Given the description of an element on the screen output the (x, y) to click on. 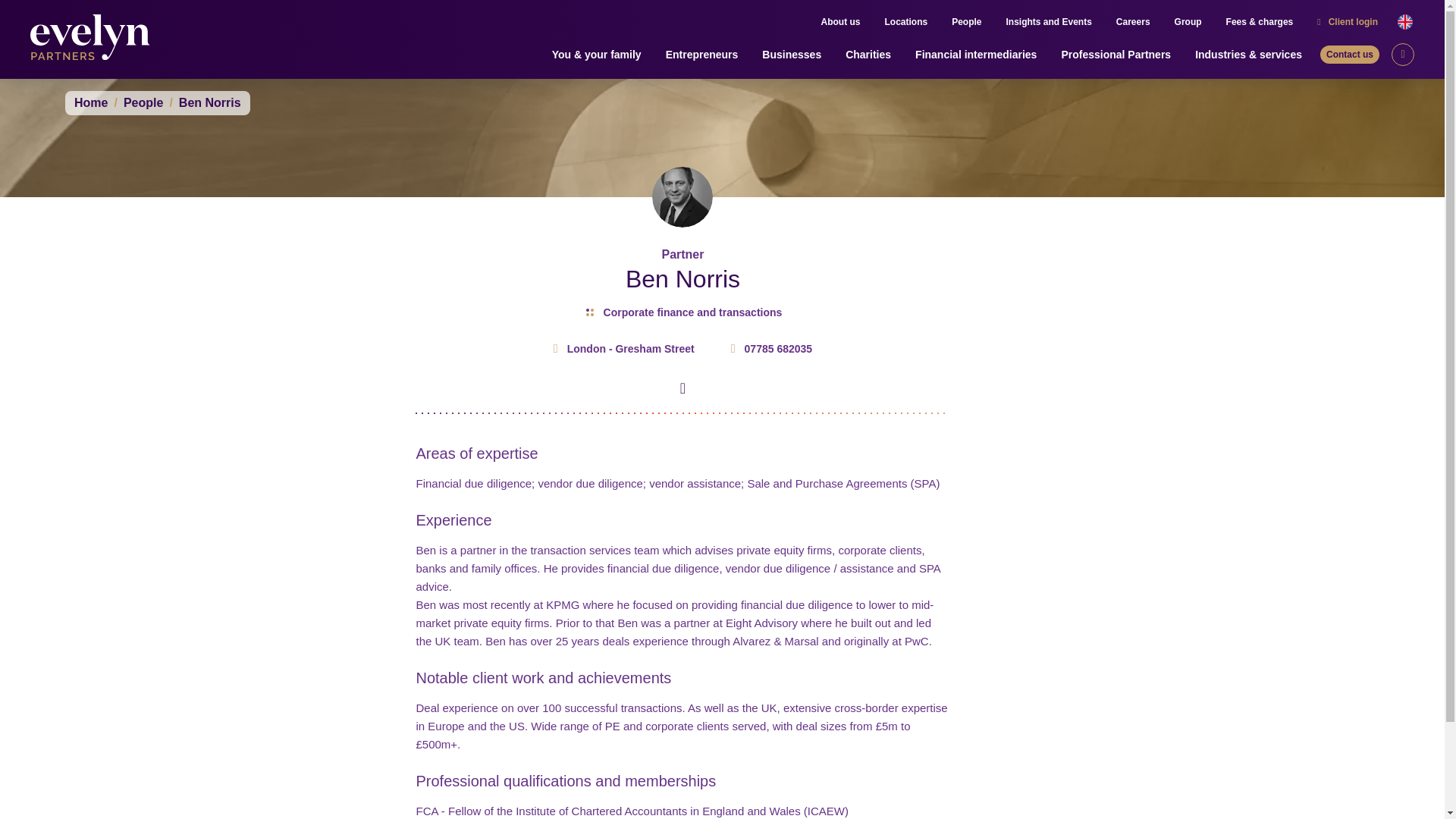
Evelyn (93, 38)
Entrepreneurs (701, 54)
Careers (1132, 22)
Businesses (791, 54)
Client login (1347, 22)
Locations (905, 22)
People (965, 22)
Insights and Events (1047, 22)
Group (1188, 22)
About us (839, 22)
